Given the description of an element on the screen output the (x, y) to click on. 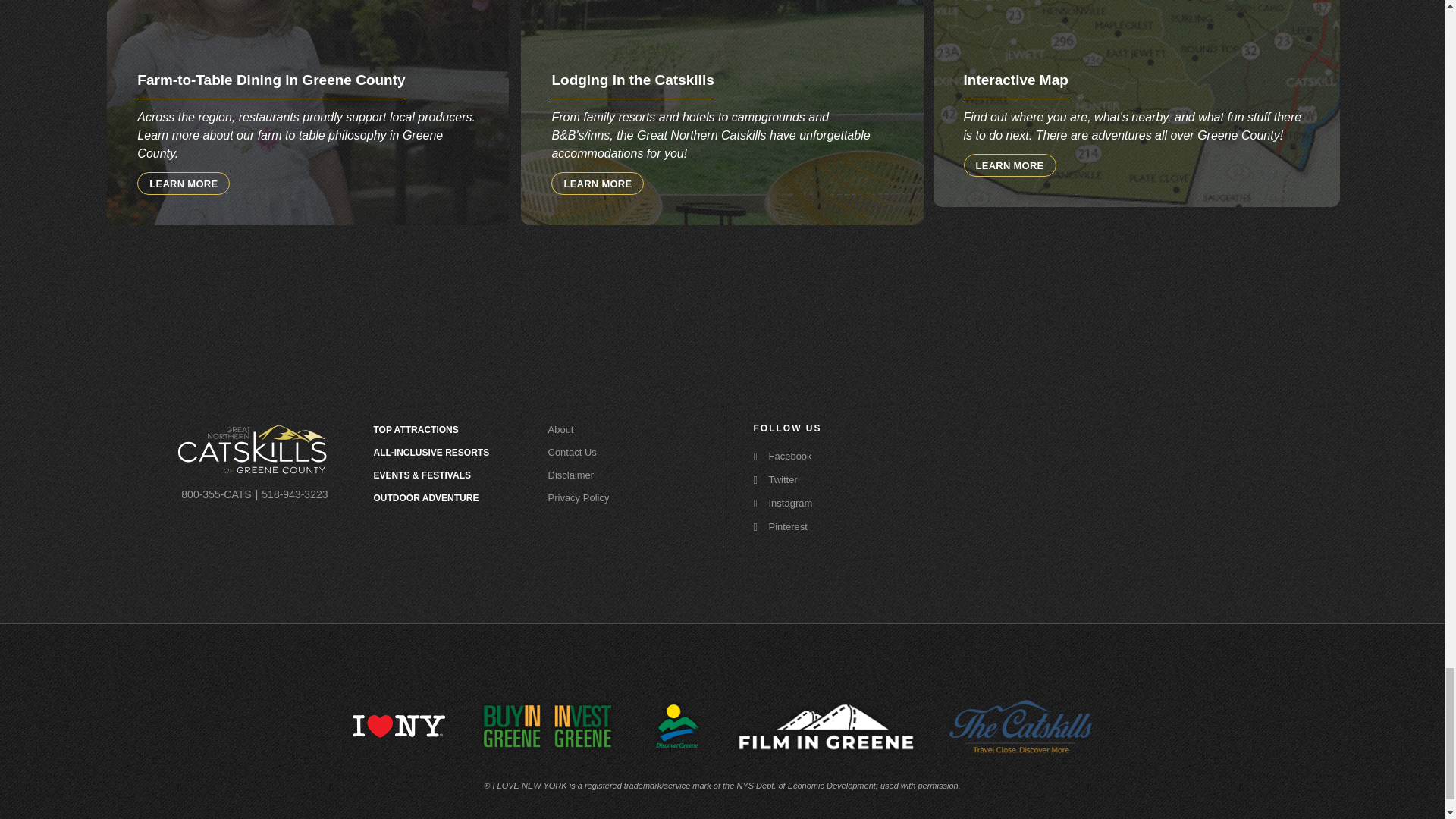
Visit us on Twitter (807, 479)
Greene County Logo (251, 449)
Visit us on Facebook (807, 455)
Visit us on Pinterest (807, 526)
Visit us on Instagram (807, 502)
